Given the description of an element on the screen output the (x, y) to click on. 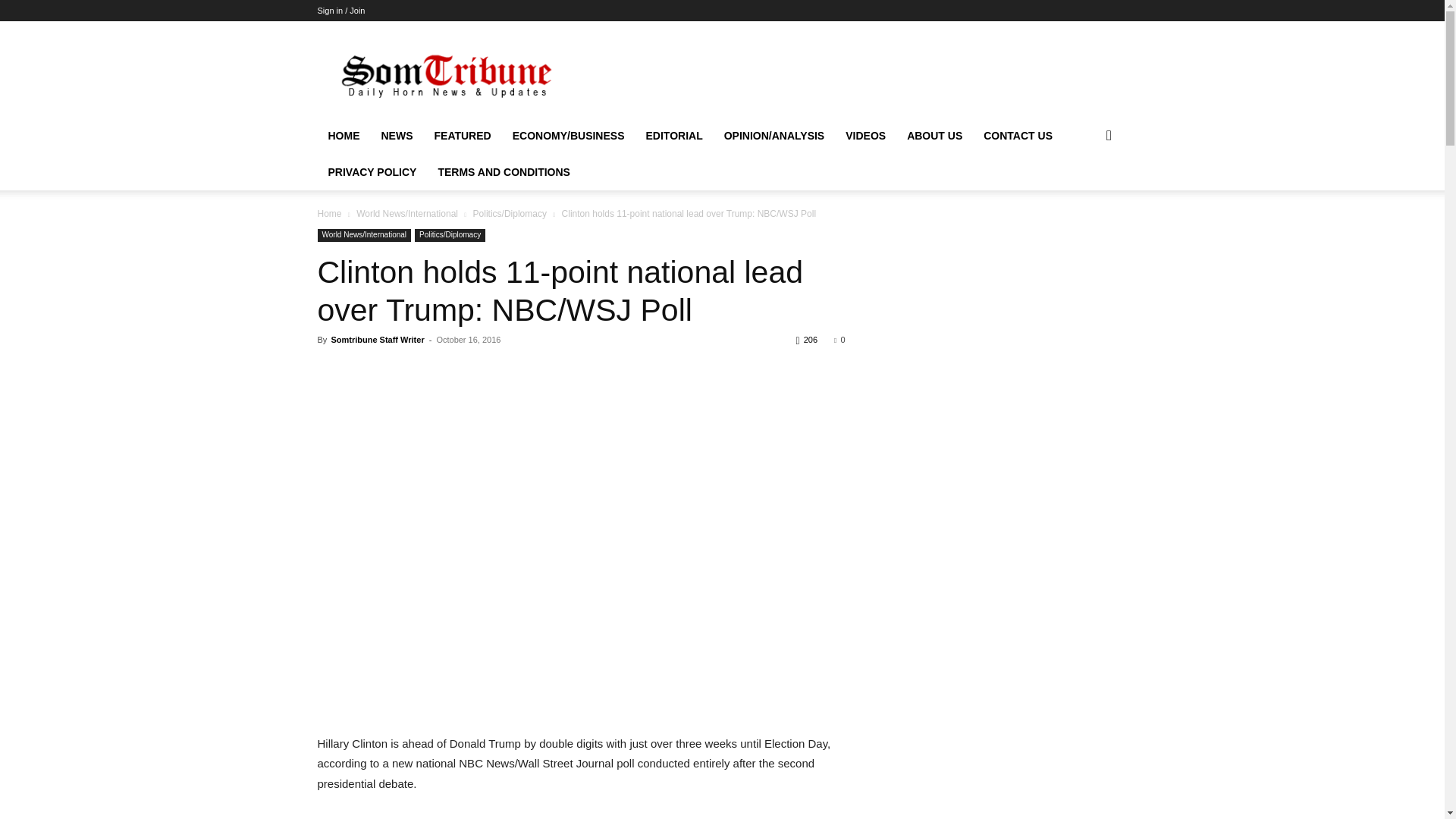
NEWS (396, 135)
HOME (343, 135)
